Given the description of an element on the screen output the (x, y) to click on. 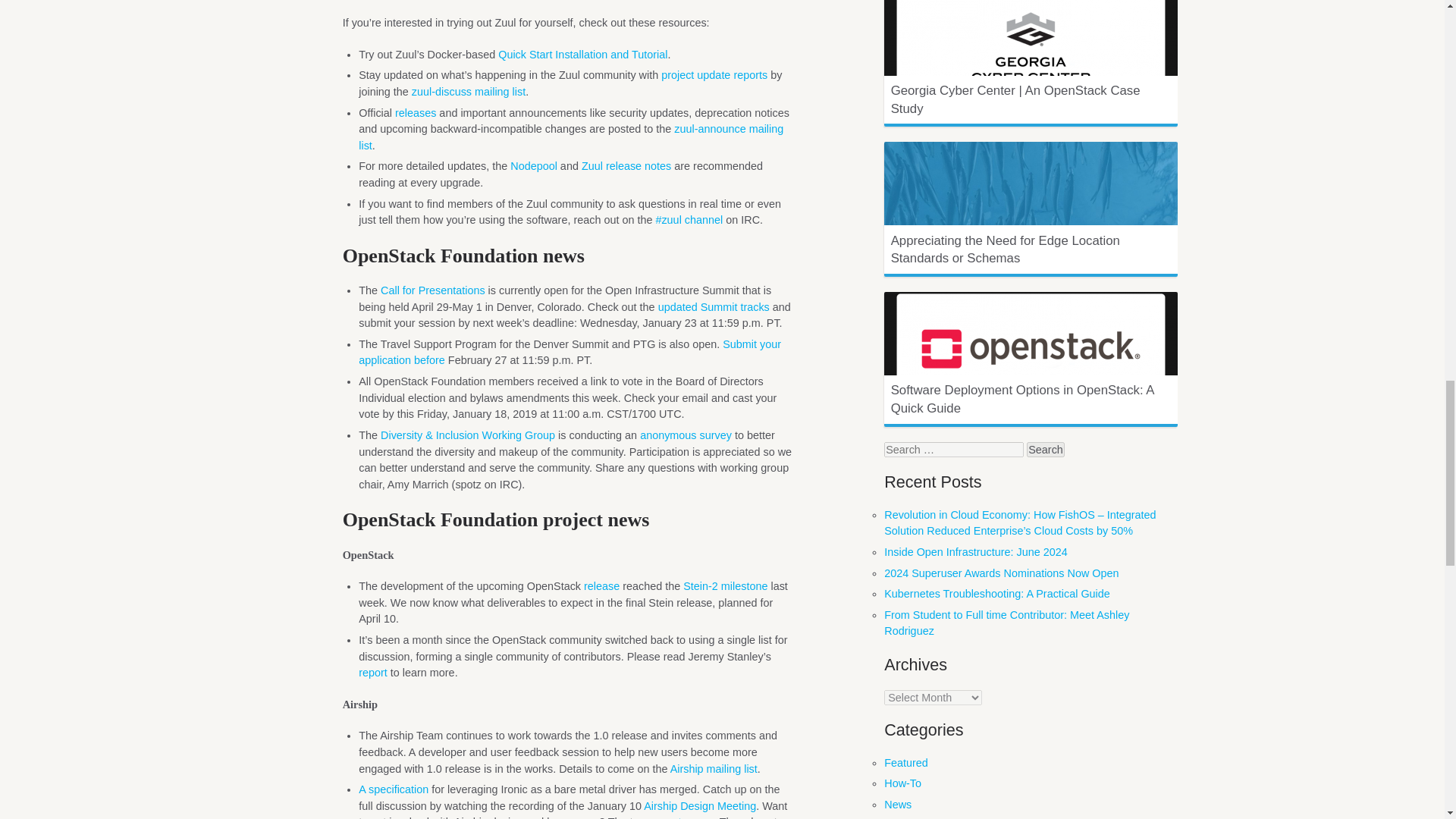
zuul-announce mailing list (570, 136)
Search (1045, 449)
project update reports (714, 74)
Search (1045, 449)
Nodepool (534, 165)
Zuul release notes (625, 165)
zuul-discuss mailing list (468, 91)
releases (414, 112)
Quick Start Installation and Tutorial (581, 54)
